Given the description of an element on the screen output the (x, y) to click on. 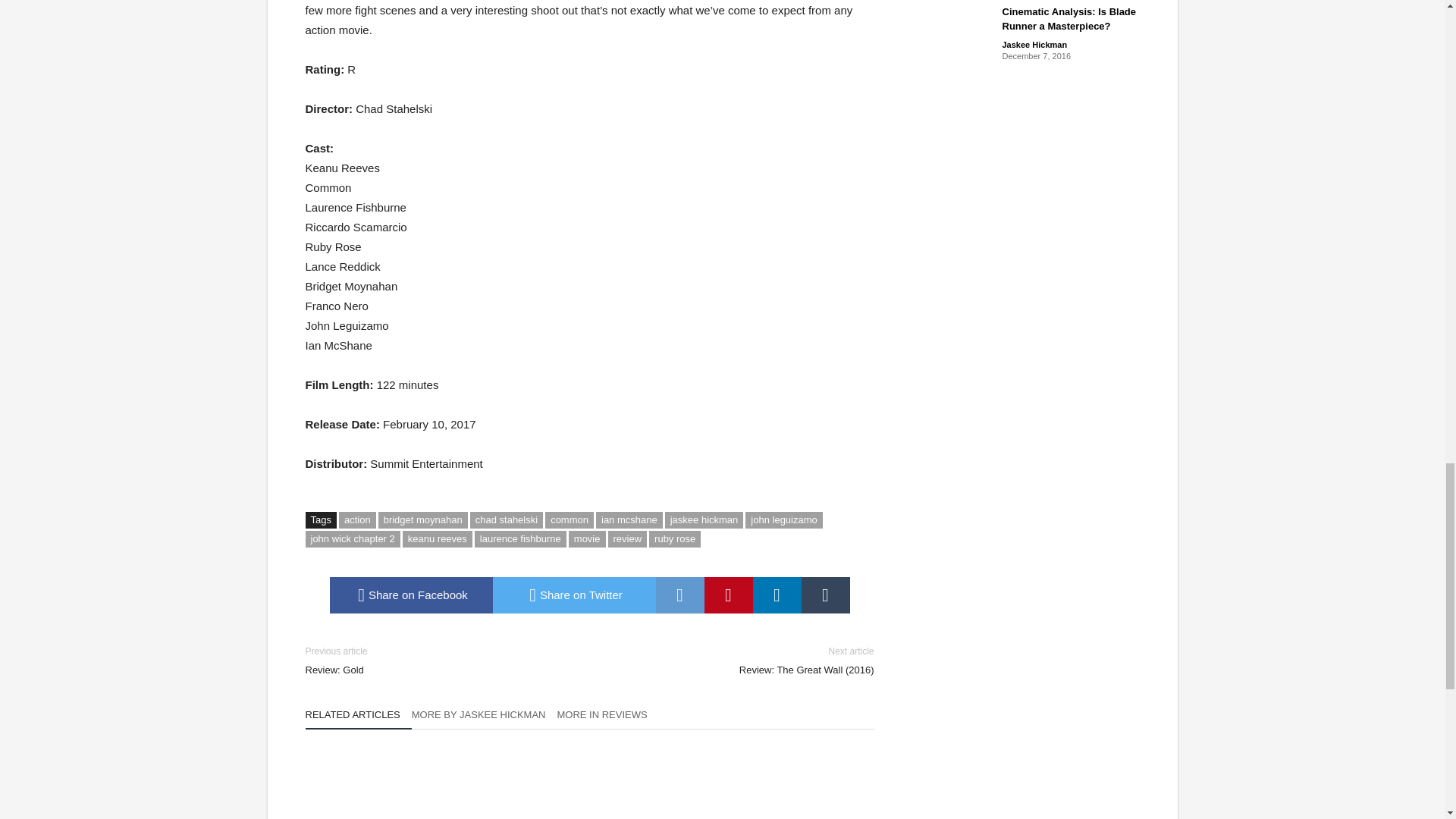
bridget moynahan (422, 519)
action (357, 519)
common (569, 519)
chad stahelski (506, 519)
